Given the description of an element on the screen output the (x, y) to click on. 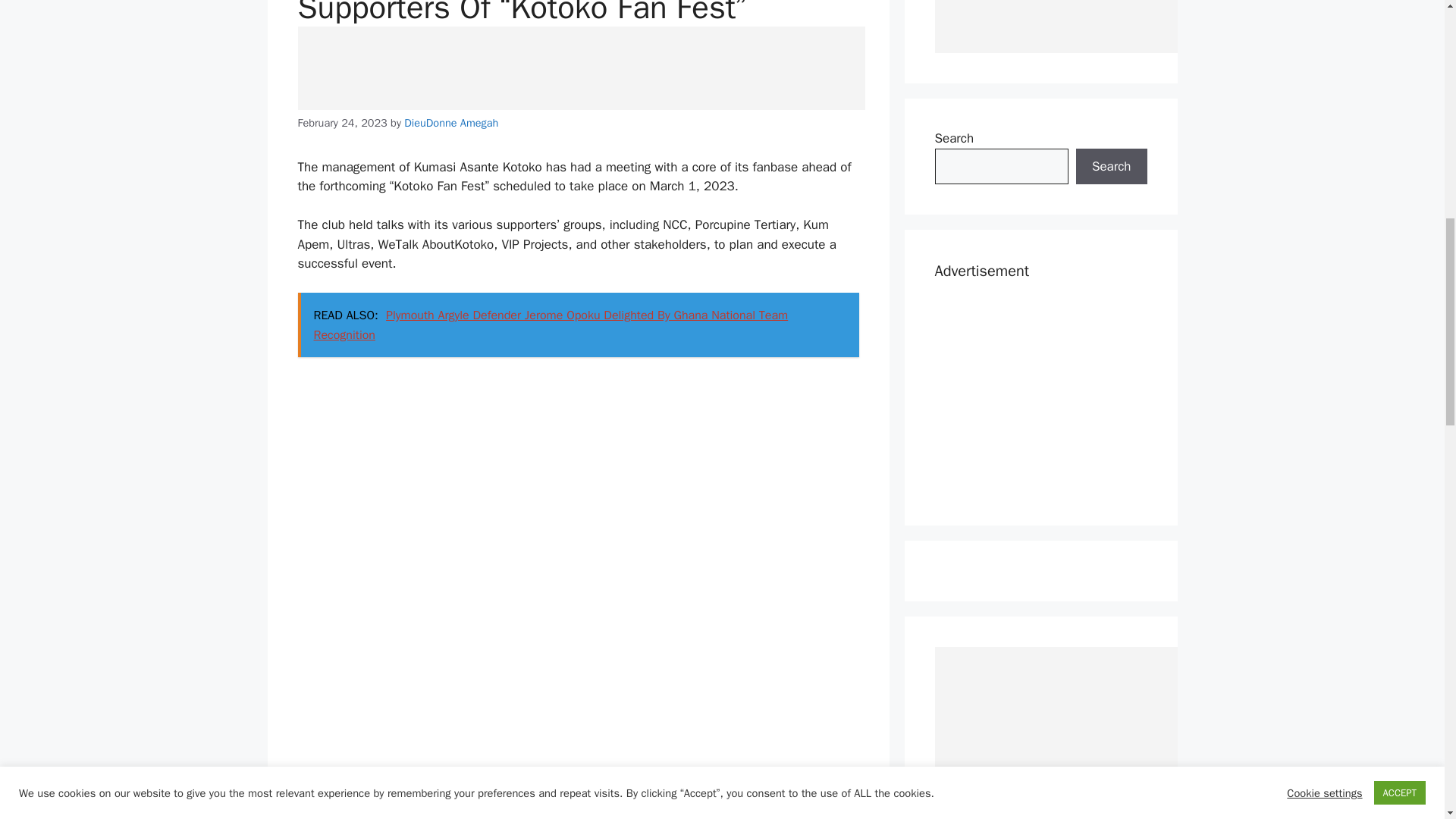
View all posts by DieuDonne Amegah (450, 122)
Search (1111, 166)
DieuDonne Amegah (450, 122)
